Given the description of an element on the screen output the (x, y) to click on. 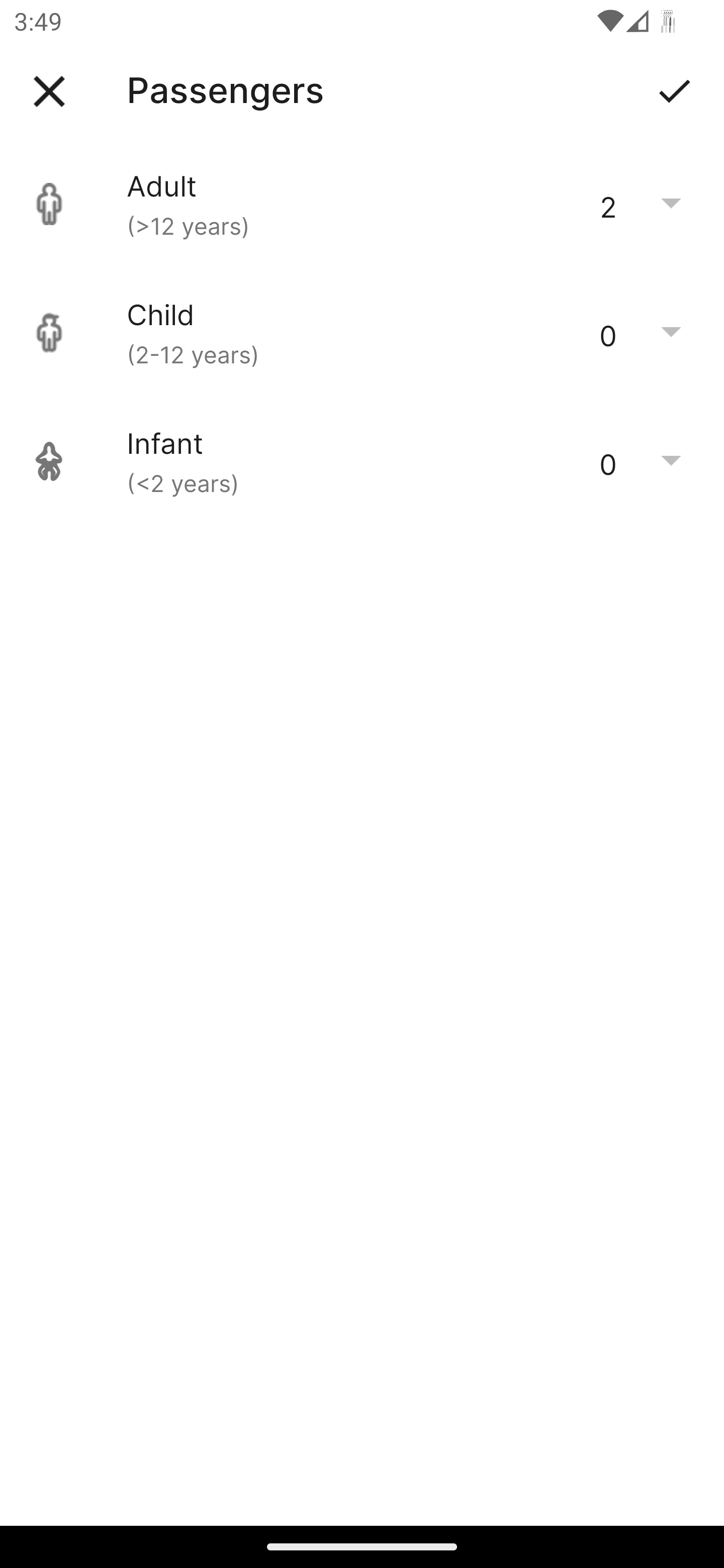
Adult (>12 years) 2 (362, 204)
Child (2-12 years) 0 (362, 332)
Infant (<2 years) 0 (362, 461)
